Given the description of an element on the screen output the (x, y) to click on. 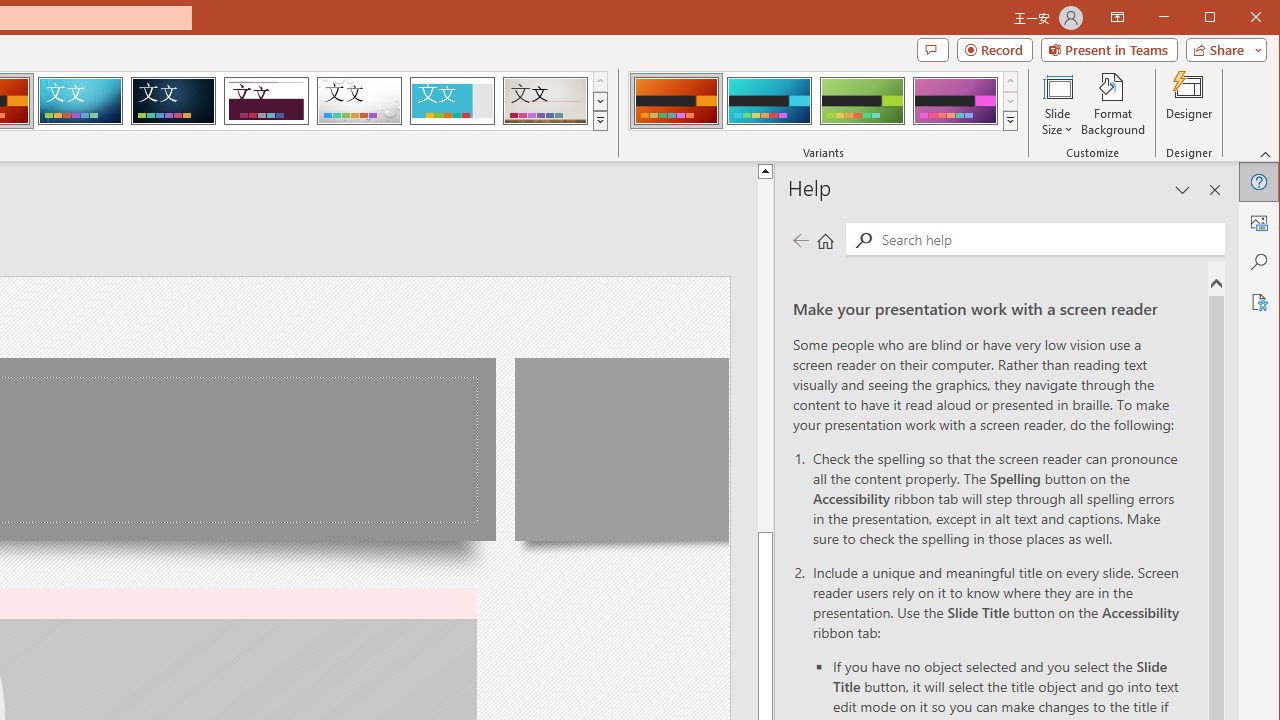
Format Background (1113, 104)
Droplet (359, 100)
Themes (600, 120)
Frame (452, 100)
Variants (1010, 120)
Previous page (800, 240)
Berlin Variant 3 (862, 100)
Slide Size (1057, 104)
